Given the description of an element on the screen output the (x, y) to click on. 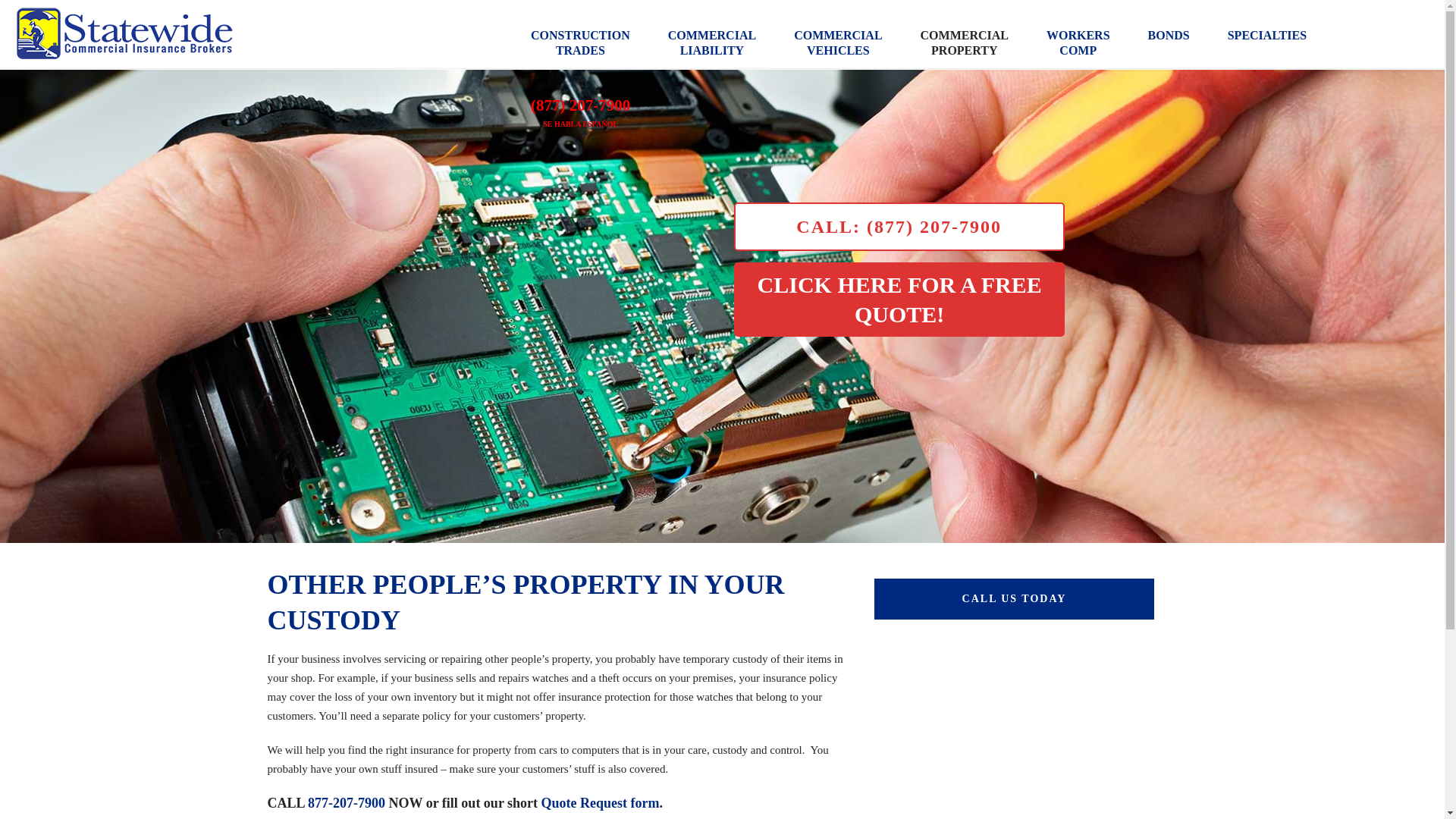
SPECIALTIES (1266, 33)
CALL US TODAY (837, 33)
Workers Compensation Insurance (1078, 33)
SPECIALTIES (837, 33)
BONDS (1013, 598)
BONDS (1078, 33)
